Given the description of an element on the screen output the (x, y) to click on. 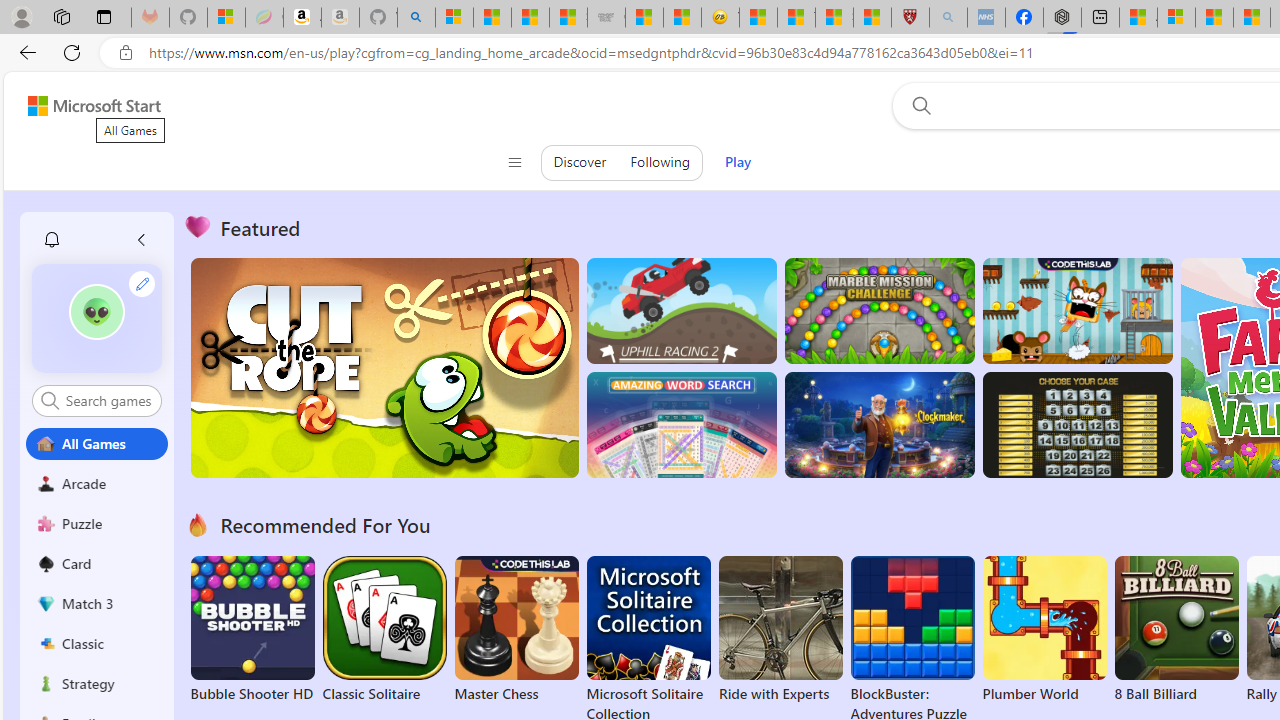
Class: control icon-only (514, 162)
Ride with Experts (780, 694)
12 Popular Science Lies that Must be Corrected (871, 17)
14 Common Myths Debunked By Scientific Facts (1251, 17)
